Given the description of an element on the screen output the (x, y) to click on. 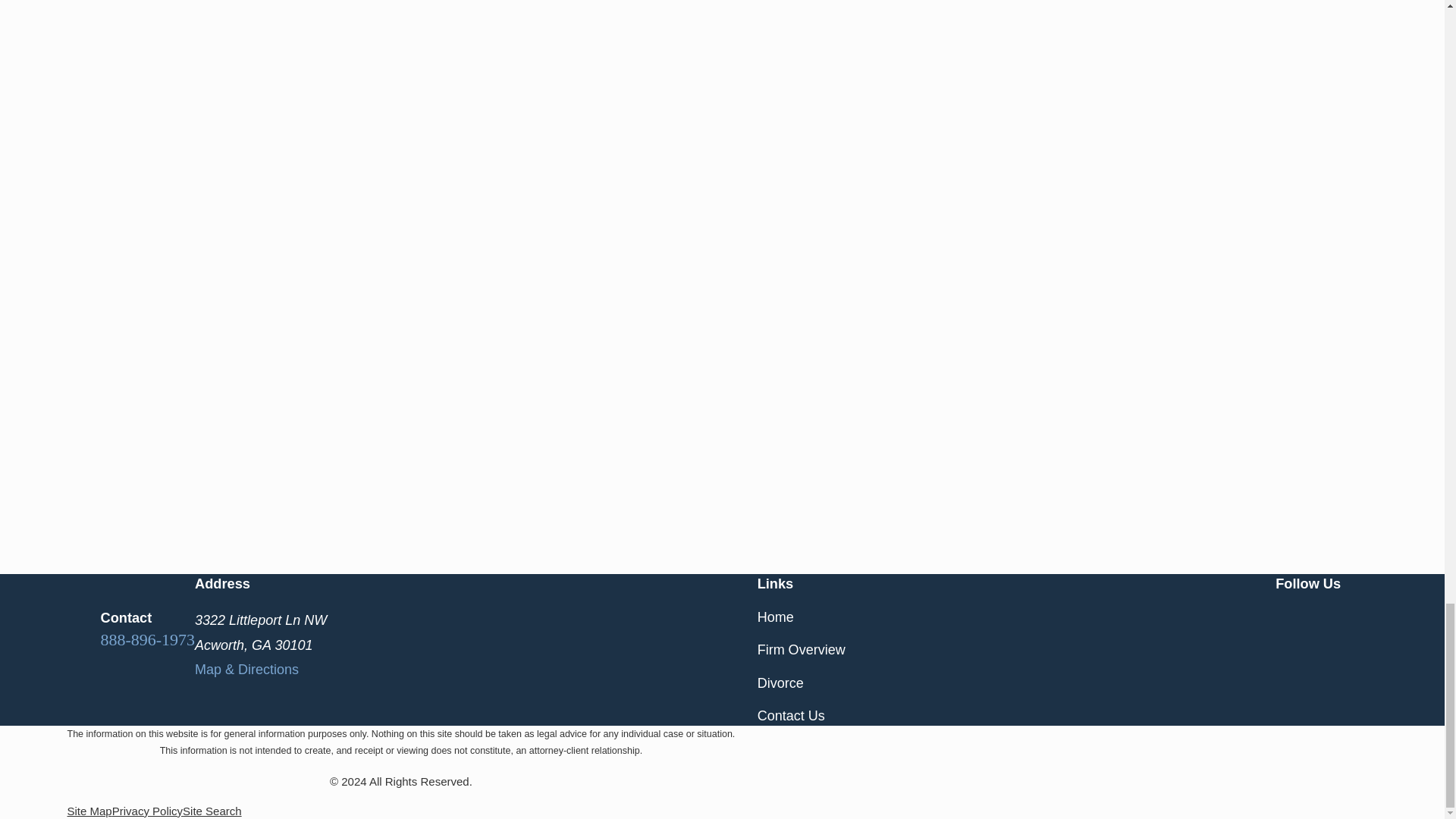
Facebook (1284, 617)
Twitter (1333, 617)
